Given the description of an element on the screen output the (x, y) to click on. 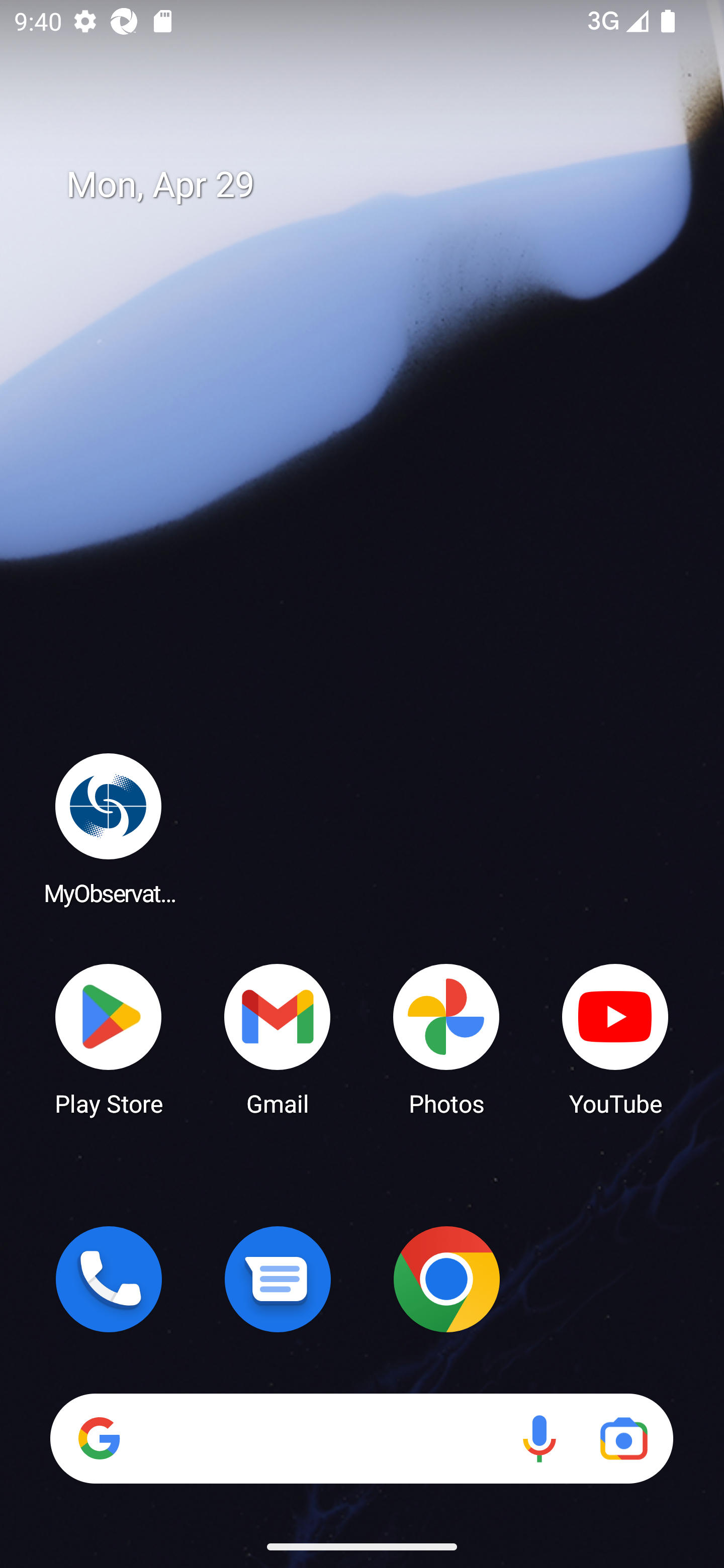
Mon, Apr 29 (375, 184)
MyObservatory (108, 828)
Play Store (108, 1038)
Gmail (277, 1038)
Photos (445, 1038)
YouTube (615, 1038)
Phone (108, 1279)
Messages (277, 1279)
Chrome (446, 1279)
Voice search (539, 1438)
Google Lens (623, 1438)
